Given the description of an element on the screen output the (x, y) to click on. 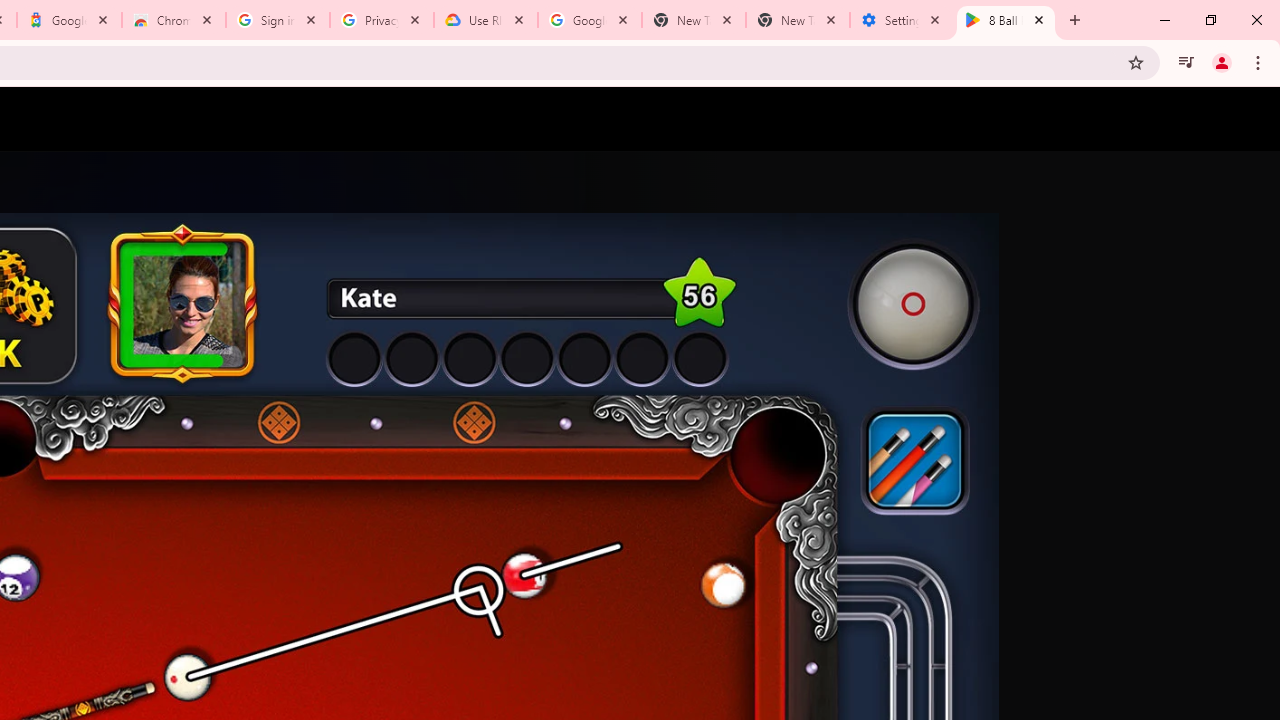
Open account menu (1245, 119)
Sign in - Google Accounts (278, 20)
New Tab (797, 20)
